Given the description of an element on the screen output the (x, y) to click on. 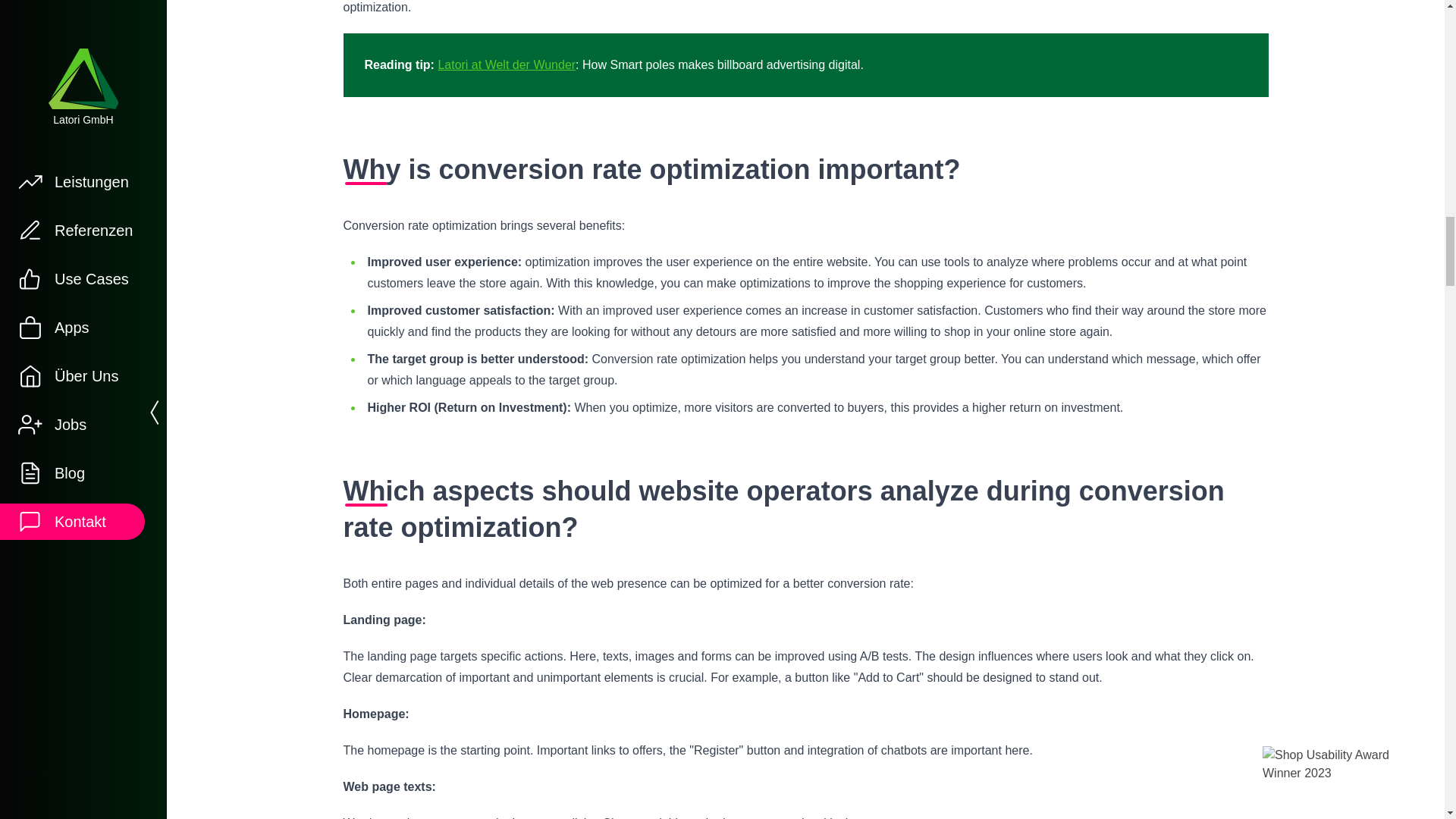
Why is conversion rate optimization important? (805, 169)
Latori at Welt der Wunder (506, 64)
